Given the description of an element on the screen output the (x, y) to click on. 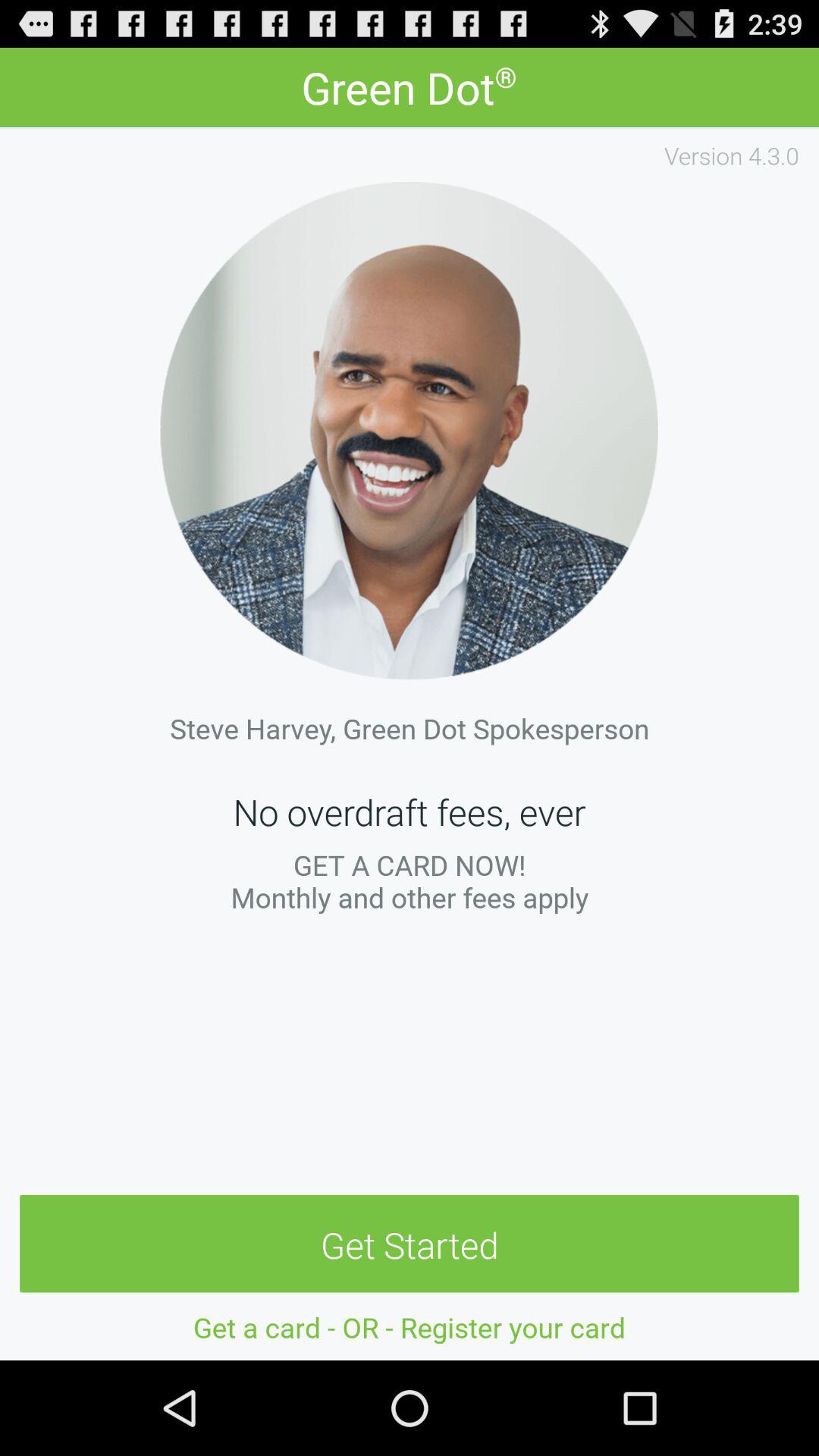
tap the app below get a card item (409, 1244)
